Given the description of an element on the screen output the (x, y) to click on. 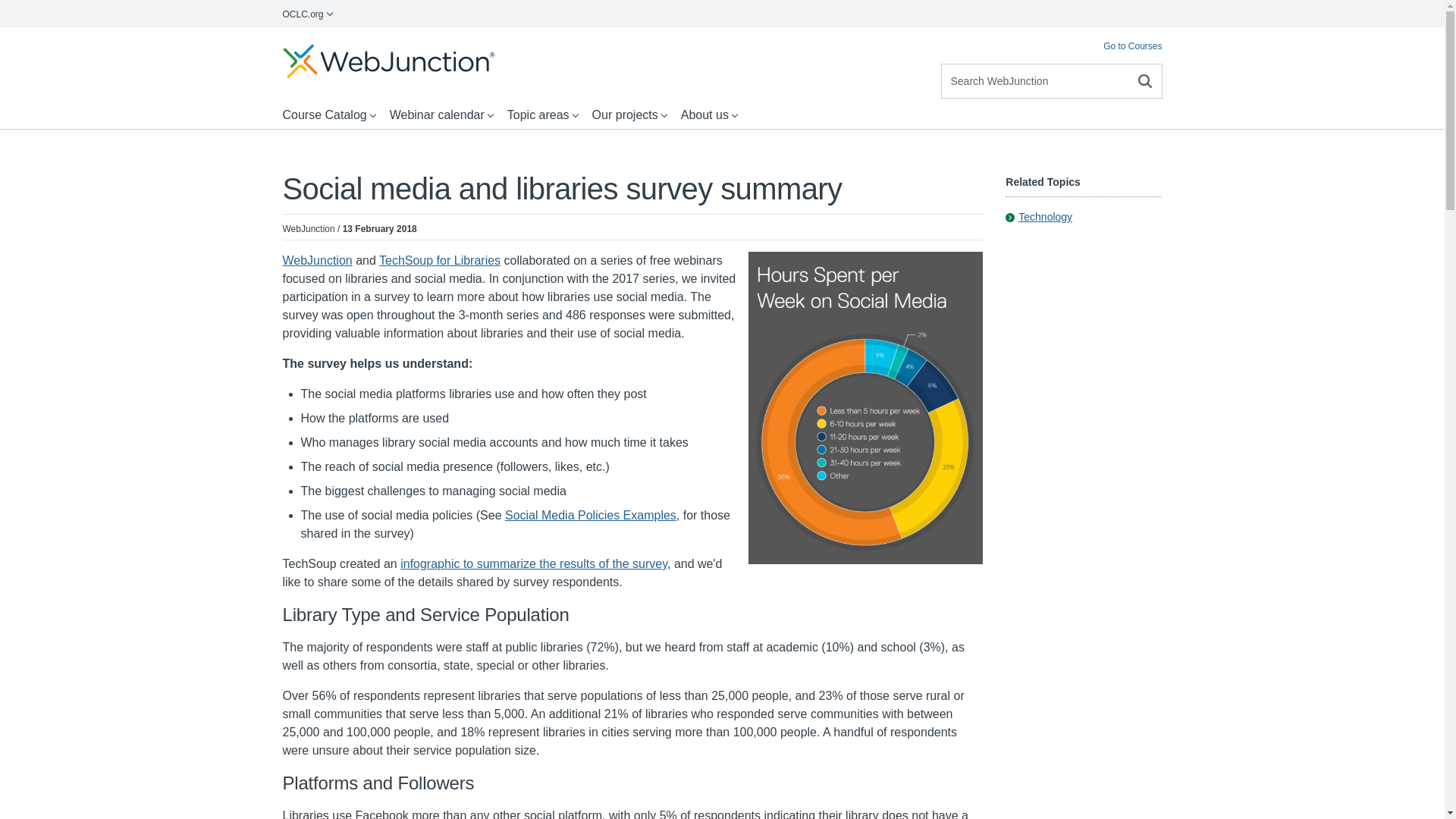
About us (710, 114)
Webinar calendar (442, 114)
Course Catalog (329, 114)
Skip to page content. (56, 42)
Topic areas (543, 114)
Our projects (630, 114)
WebJunction (317, 259)
Our projects (630, 114)
About us (710, 114)
Social Media Policies Examples (591, 514)
